Given the description of an element on the screen output the (x, y) to click on. 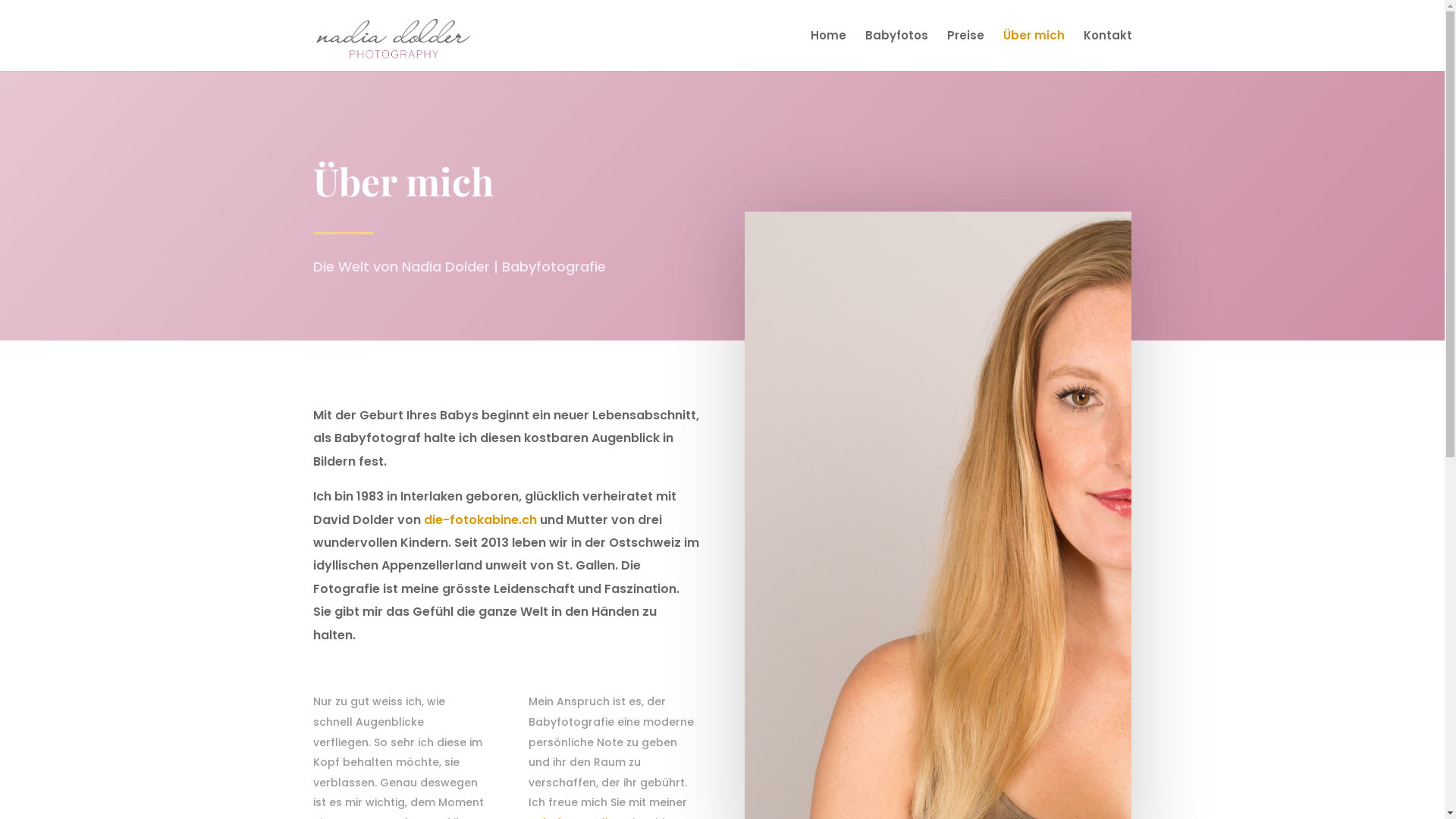
die-fotokabine.ch Element type: text (479, 519)
Preise Element type: text (964, 50)
Home Element type: text (827, 50)
Kontakt Element type: text (1106, 50)
Babyfotos Element type: text (895, 50)
